Given the description of an element on the screen output the (x, y) to click on. 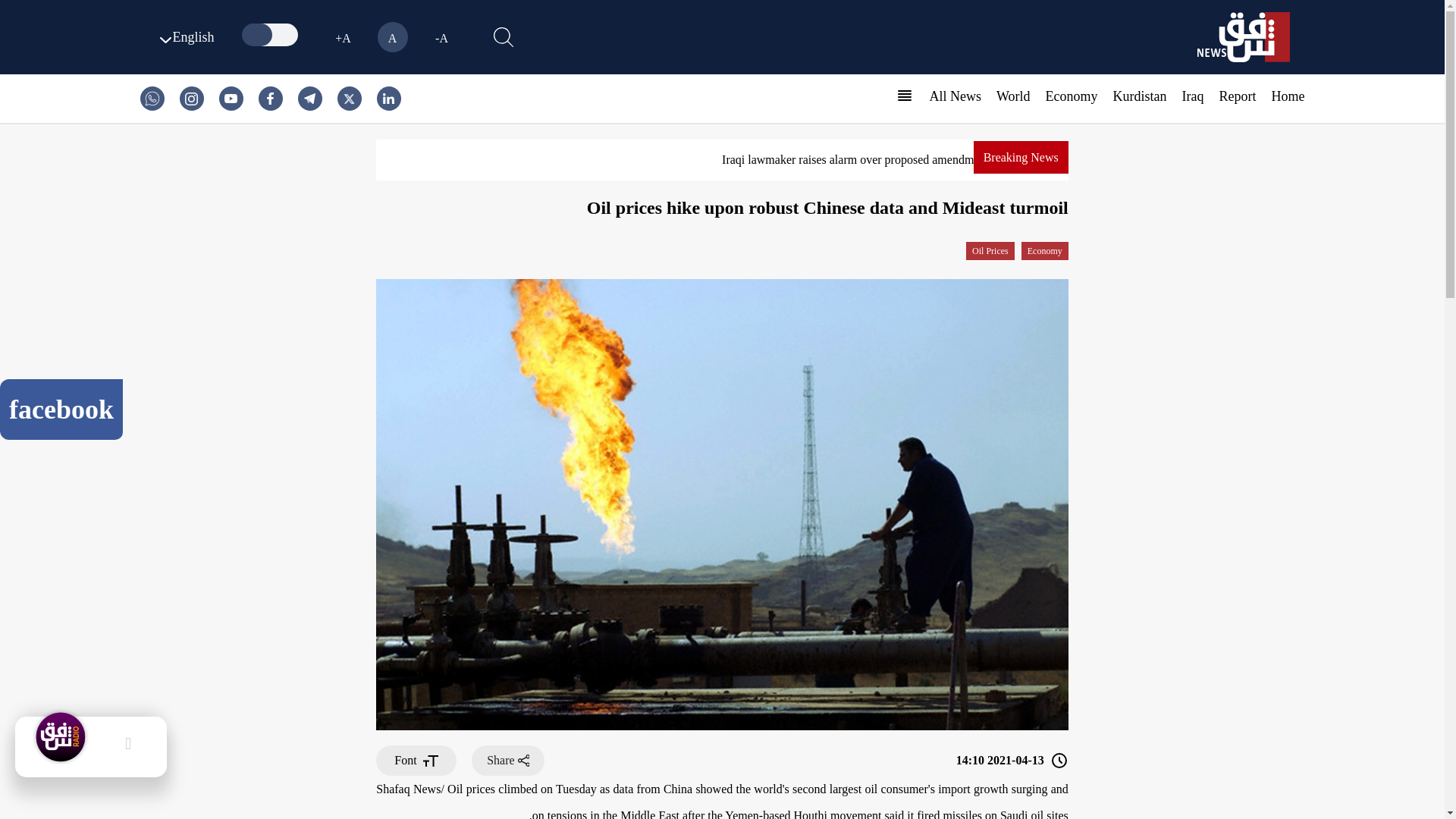
English (184, 37)
Iraq (1193, 96)
A- (441, 37)
World (1012, 96)
All News (954, 96)
Kurdistan (1140, 96)
Economy (1071, 96)
A (392, 37)
Home (1287, 96)
Report (1238, 96)
on (271, 34)
